Given the description of an element on the screen output the (x, y) to click on. 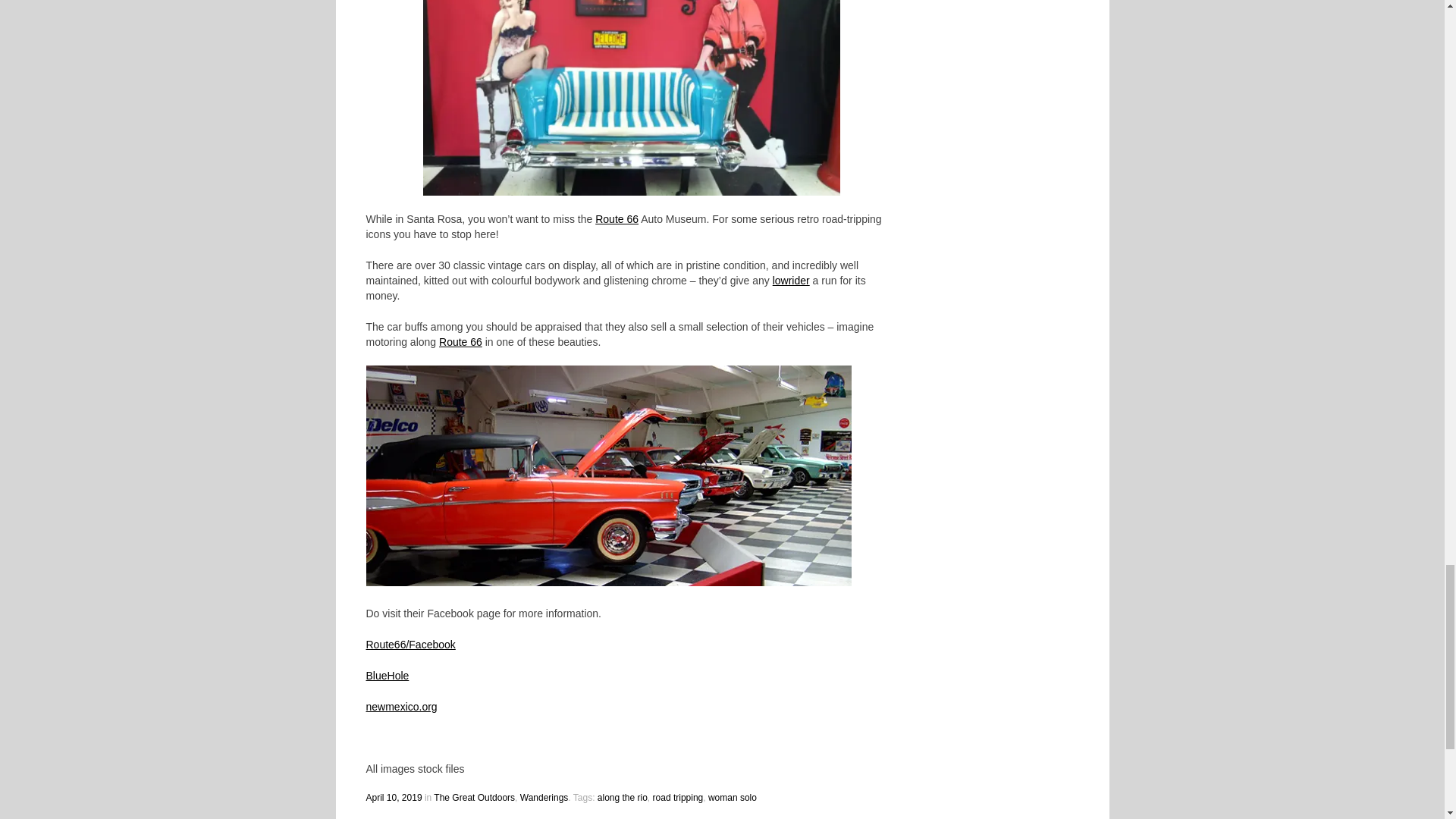
along the rio (621, 797)
woman solo (732, 797)
Wanderings (544, 797)
newmexico.org (400, 706)
road tripping (677, 797)
Route 66 (617, 218)
Route 66 (460, 341)
April 10, 2019 (393, 797)
lowrider (791, 280)
The Great Outdoors (474, 797)
BlueHole (387, 675)
